Given the description of an element on the screen output the (x, y) to click on. 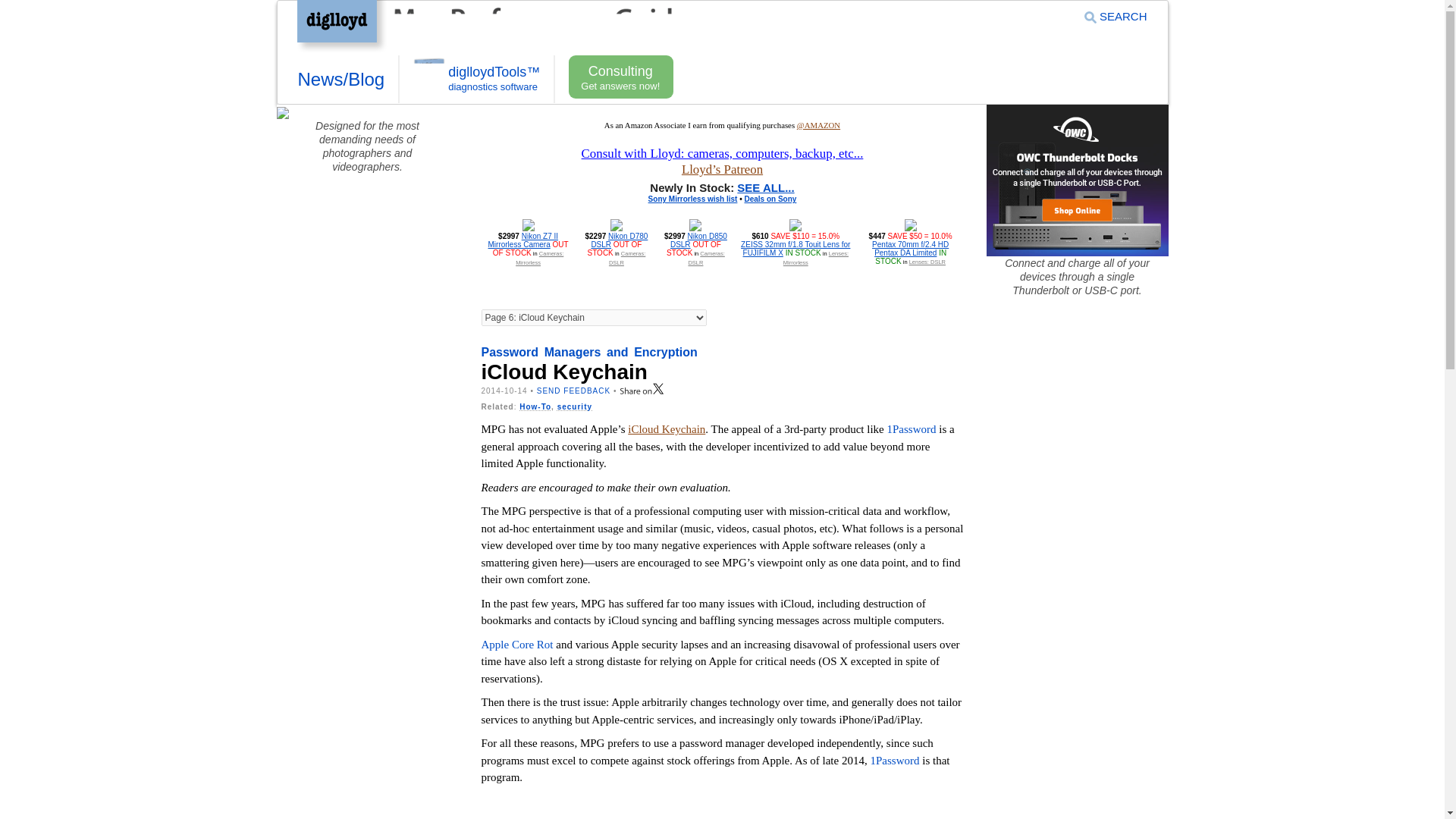
SEND FEEDBACK (573, 390)
How-To (535, 406)
SEARCH (1115, 15)
iCloud Keychain (665, 428)
Lenses: Mirrorless (815, 258)
Password Managers and Encryption (588, 351)
security (574, 406)
Cameras: DSLR (626, 258)
Sony Mirrorless wish list (692, 198)
Consult with Lloyd: cameras, computers, backup, etc... (721, 153)
